Given the description of an element on the screen output the (x, y) to click on. 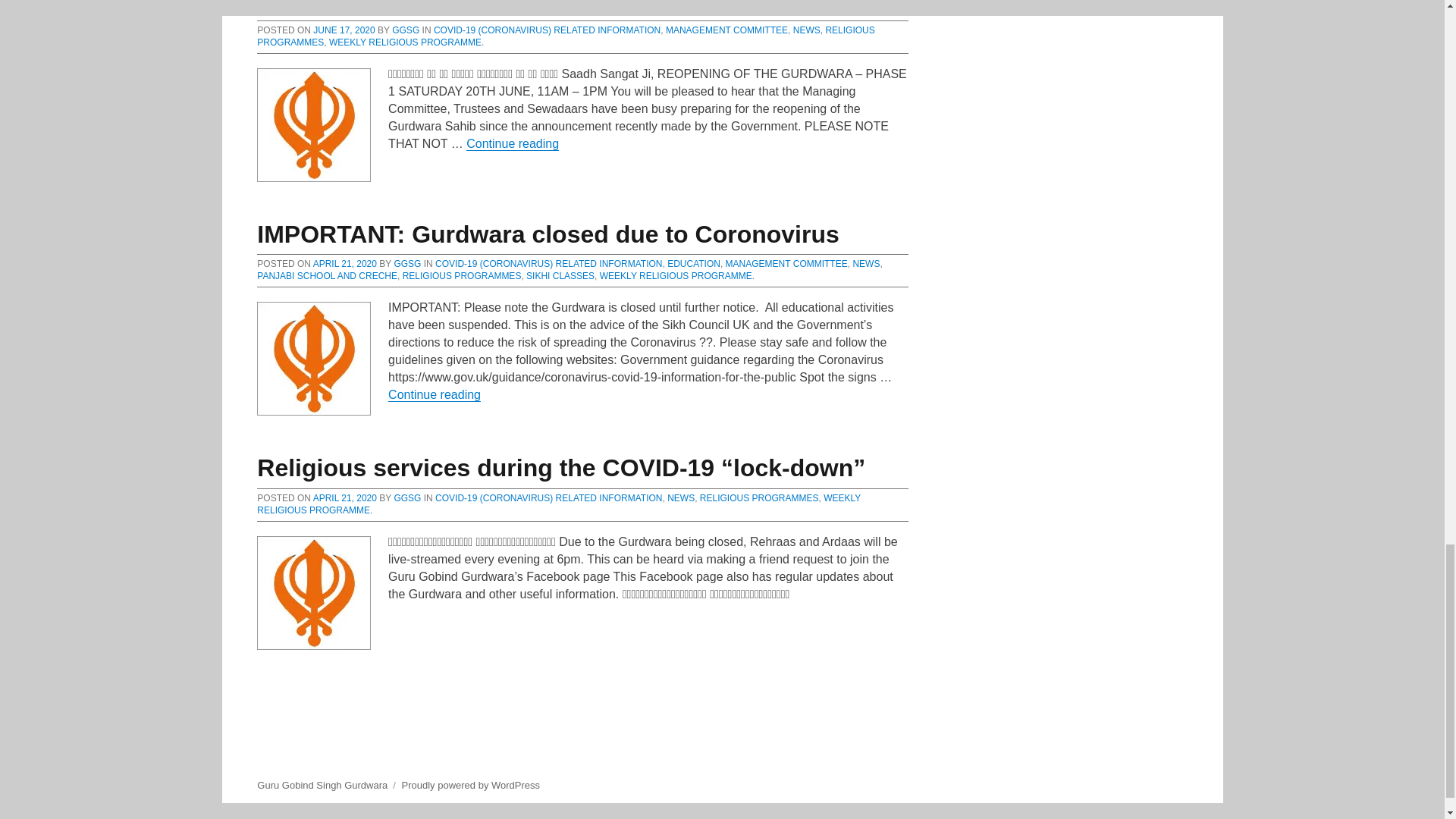
View all posts by GGSG (405, 30)
8:00 pm (345, 263)
3:35 pm (343, 30)
